Given the description of an element on the screen output the (x, y) to click on. 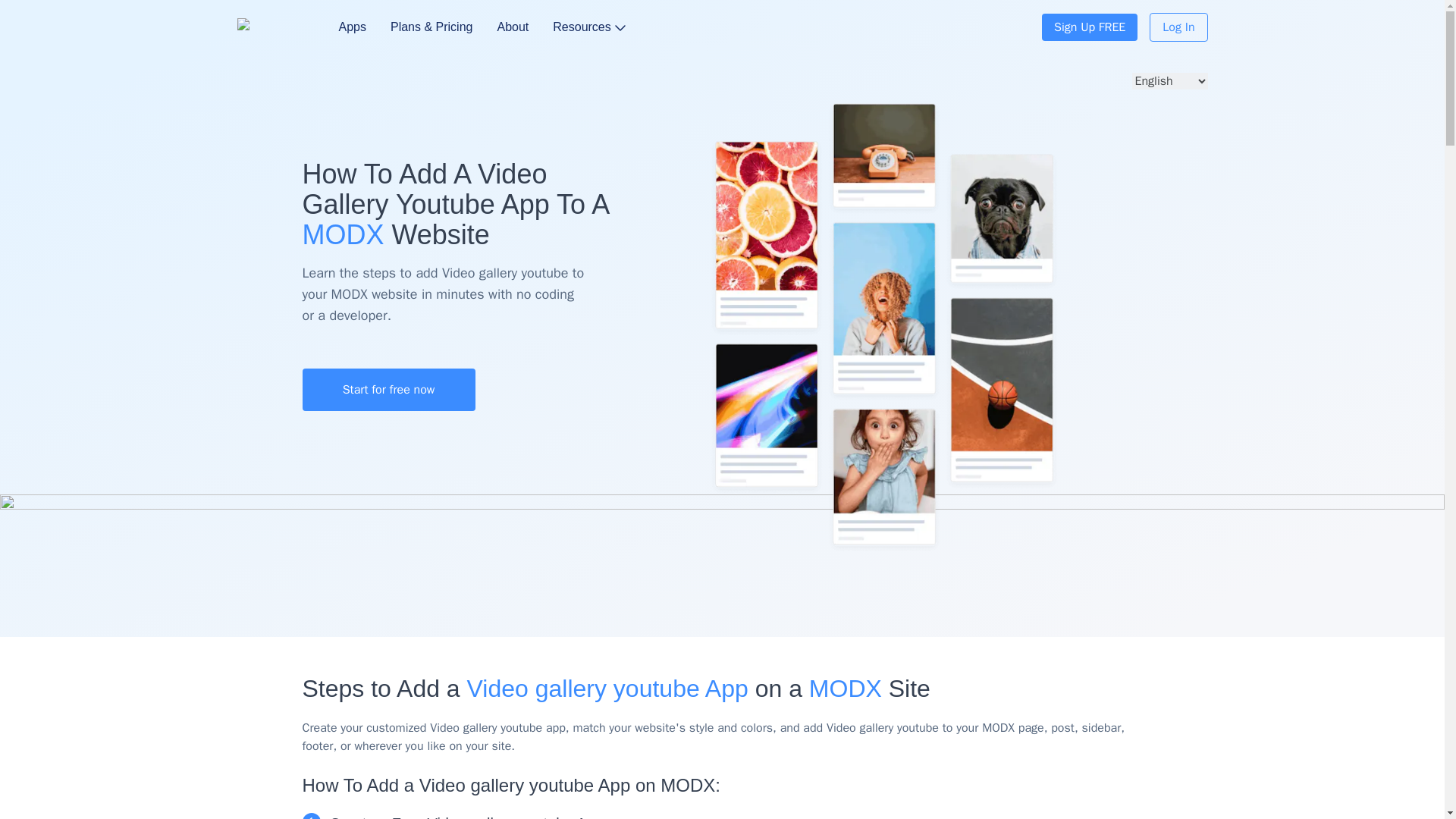
About (512, 27)
Start for free now (387, 389)
Sign Up FREE (1089, 26)
Log In (1178, 27)
Apps (351, 27)
